Given the description of an element on the screen output the (x, y) to click on. 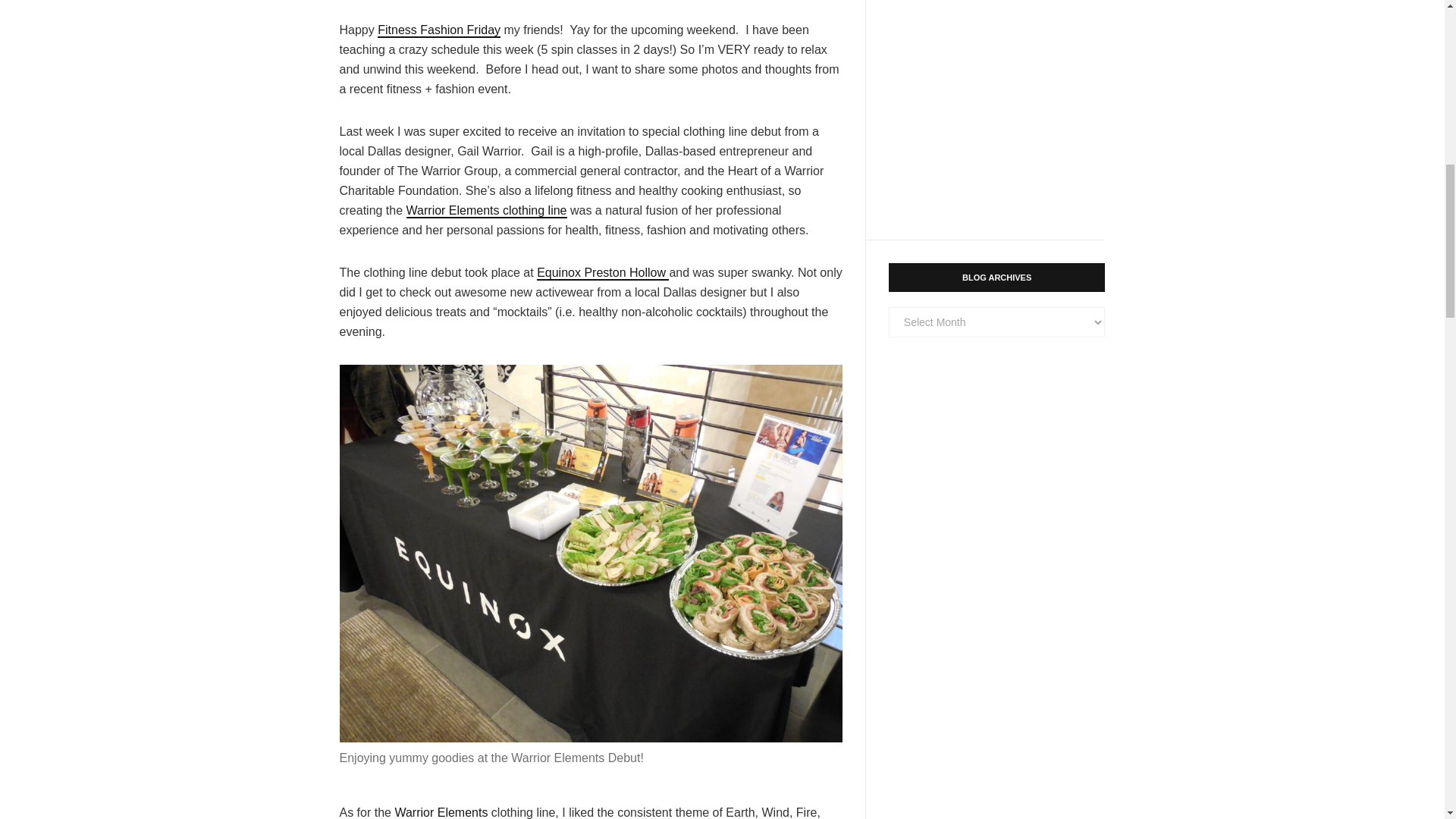
Equinox Preston Hollow (602, 273)
Fitness Fashion Friday (438, 30)
Warrior Elements clothing line (486, 210)
Warrior Elements (440, 812)
